Given the description of an element on the screen output the (x, y) to click on. 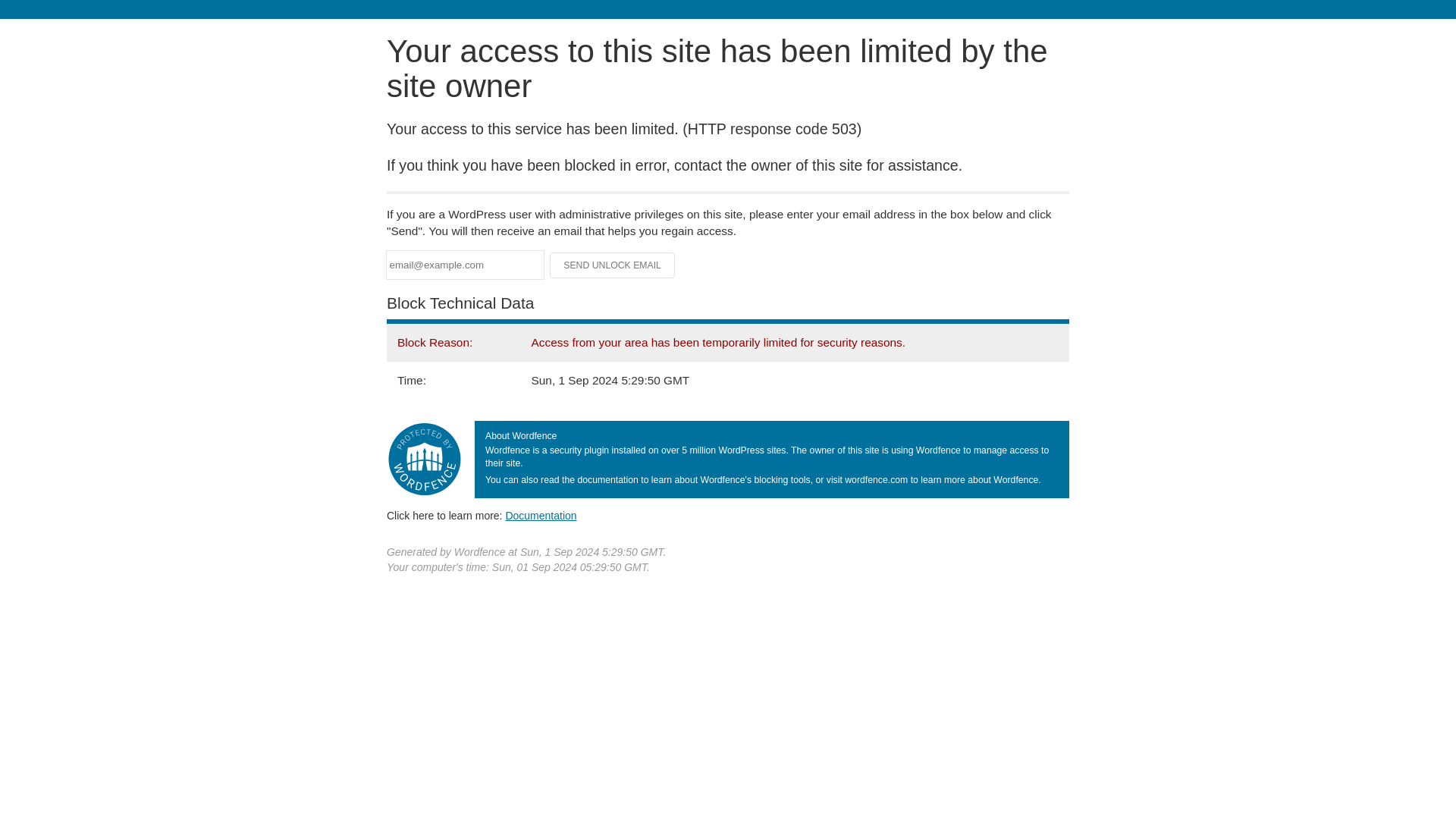
Send Unlock Email (612, 265)
Send Unlock Email (612, 265)
Documentation (540, 515)
